Given the description of an element on the screen output the (x, y) to click on. 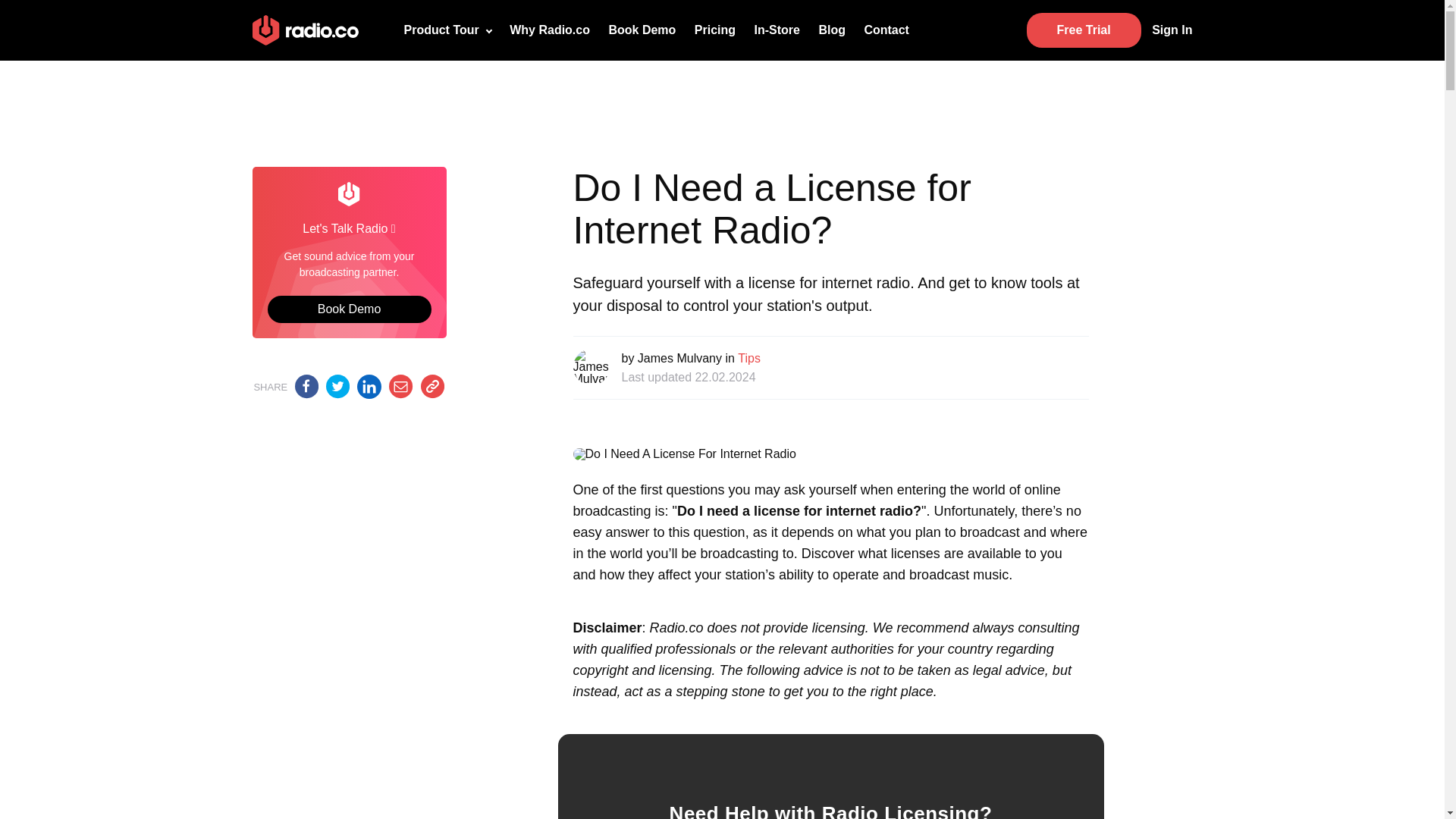
Contact (886, 29)
Tips (749, 357)
Why Radio.co (549, 29)
In-Store (775, 29)
Book Demo (348, 308)
Pricing (714, 29)
Book Demo (640, 29)
Sign In (1168, 29)
Free Trial (1083, 30)
Blog (831, 29)
